Given the description of an element on the screen output the (x, y) to click on. 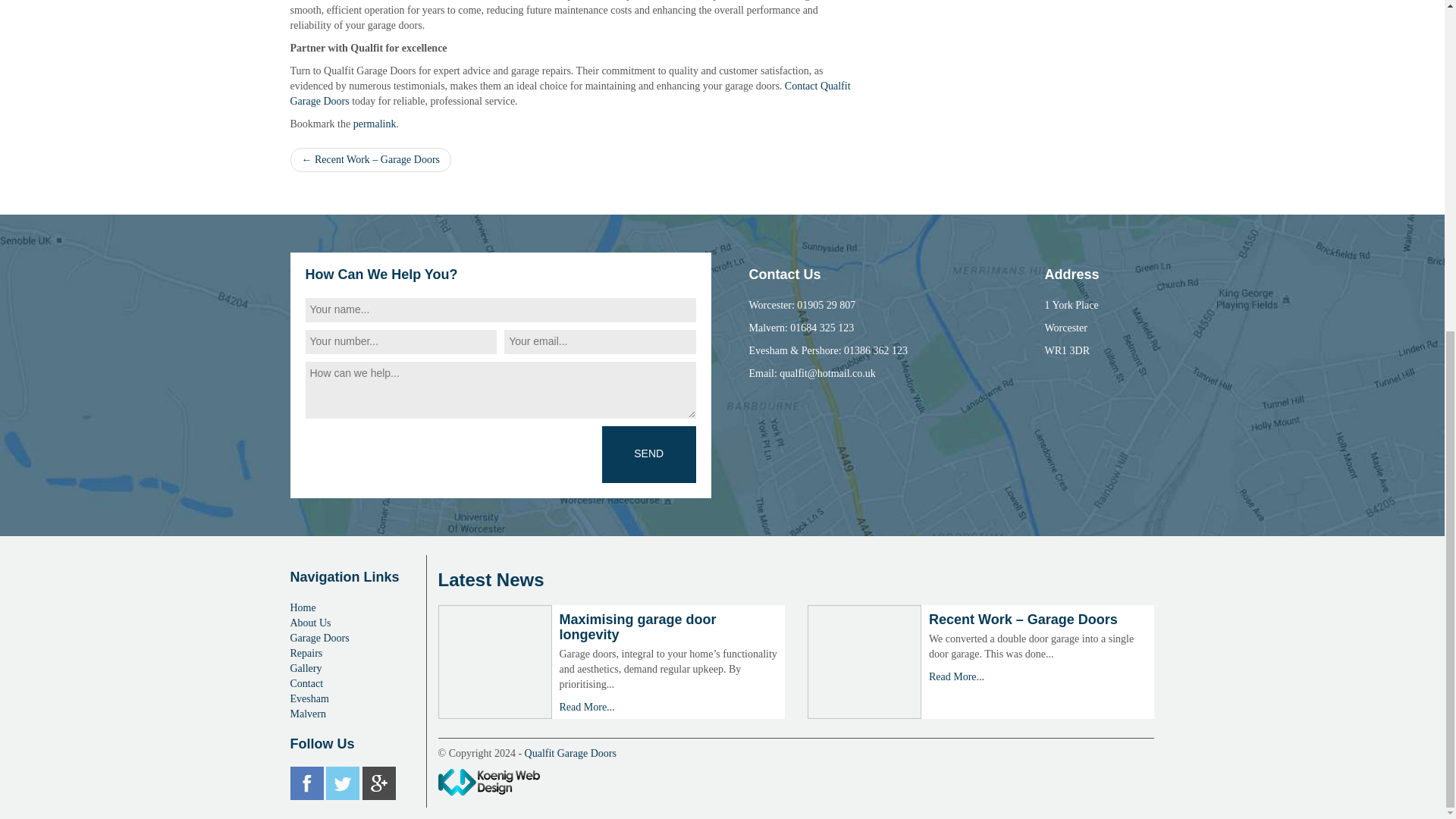
permalink (374, 123)
Contact Qualfit Garage Doors (569, 93)
01905 29 807 (826, 305)
01684 325 123 (821, 327)
01386 362 123 (875, 350)
Send (648, 454)
Read More... (956, 676)
Maximising garage door longevity (637, 626)
Read More... (586, 706)
Send (648, 454)
